Given the description of an element on the screen output the (x, y) to click on. 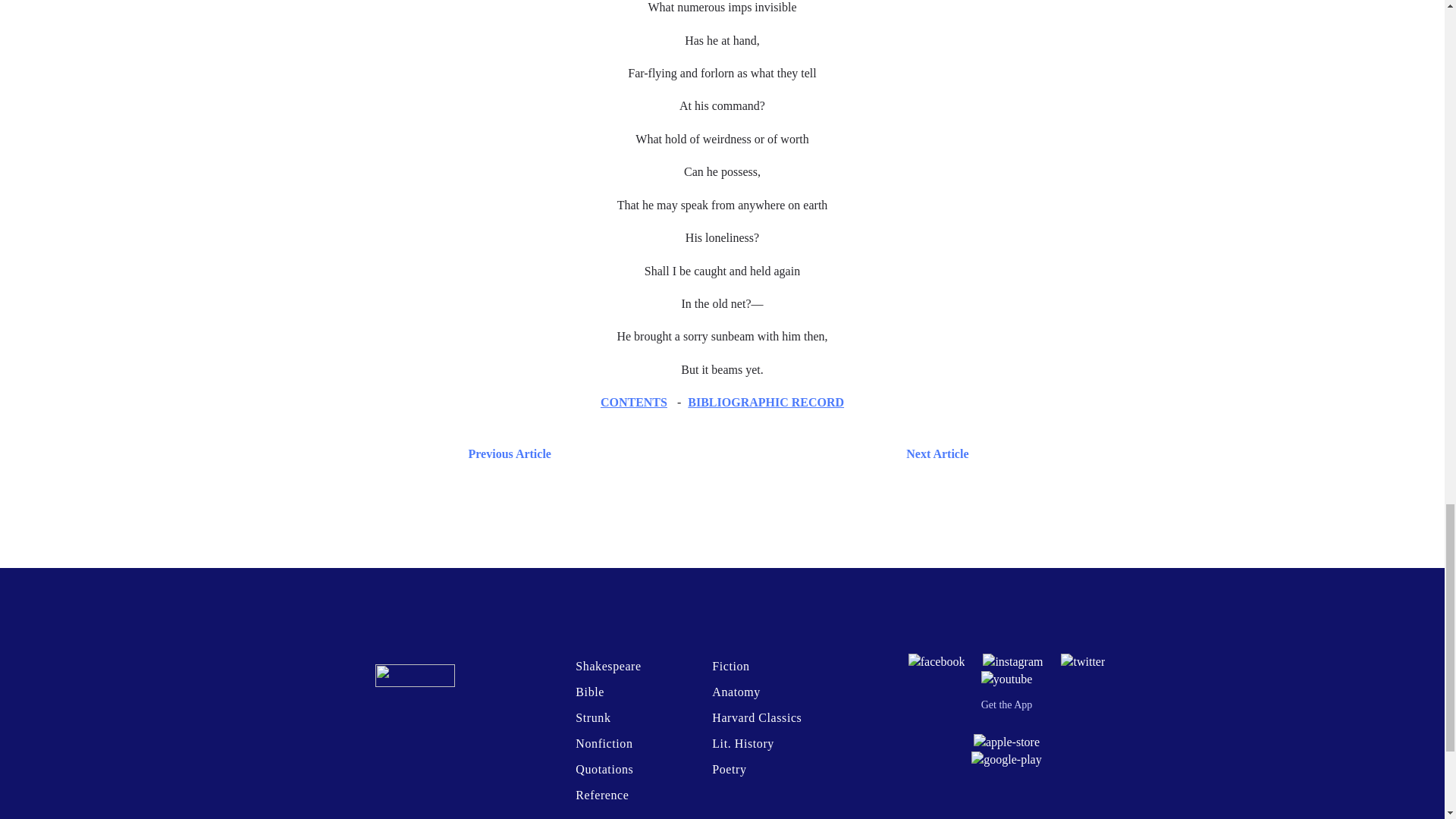
Anatomy (735, 691)
Strunk (592, 717)
Lit. History (742, 743)
Bible (589, 691)
Poetry (728, 768)
Nonfiction (603, 743)
Shakespeare (607, 666)
Reference (601, 794)
Fiction (730, 666)
BIBLIOGRAPHIC RECORD (765, 401)
Next Article (767, 453)
Quotations (604, 768)
Previous Article (506, 453)
CONTENTS (632, 401)
Harvard Classics (756, 717)
